Given the description of an element on the screen output the (x, y) to click on. 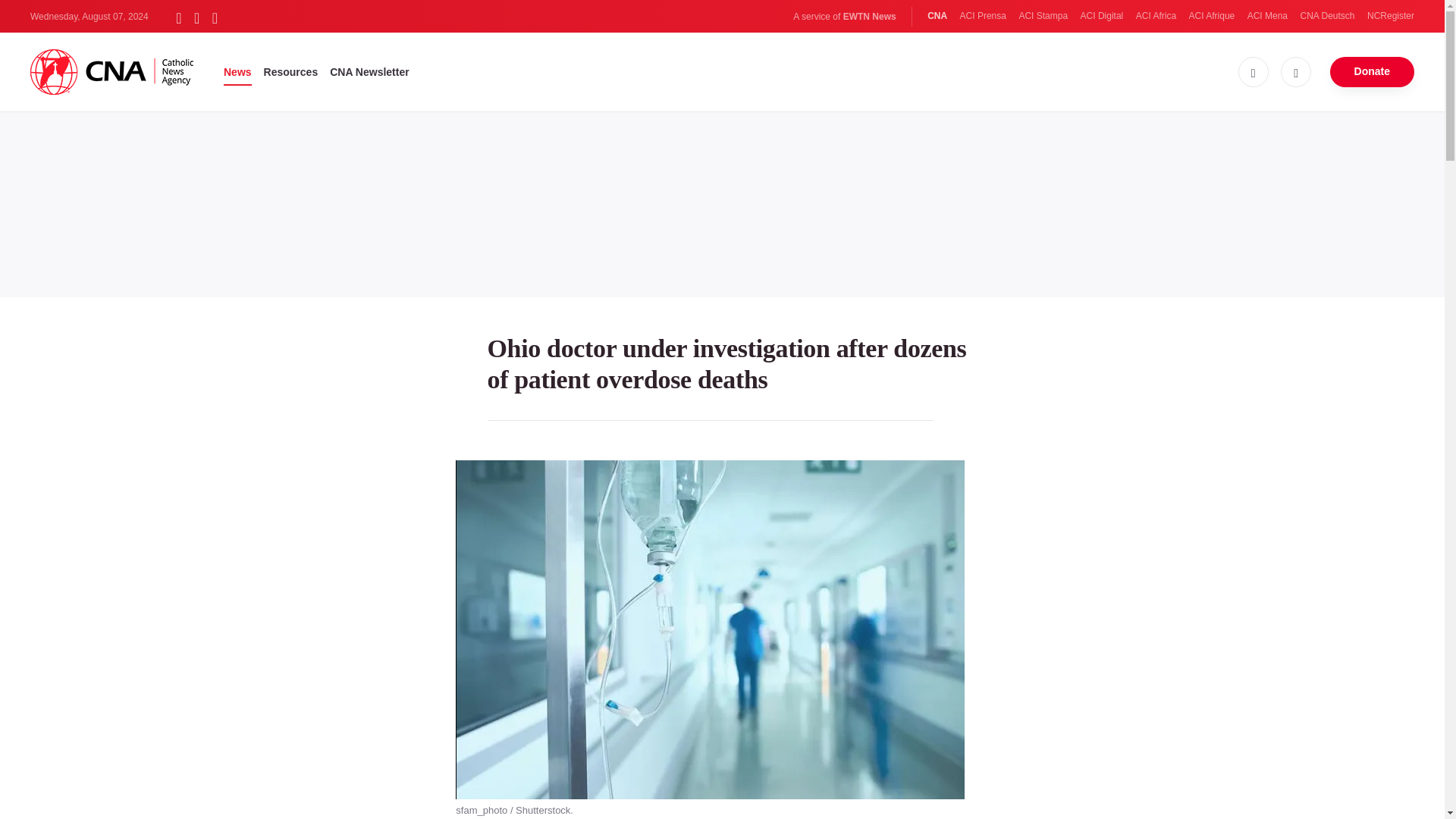
EWTN News (869, 16)
ACI Africa (1155, 16)
NCRegister (1390, 16)
ACI Digital (1102, 16)
EWTN News (869, 16)
CNA (937, 16)
ACI Prensa (982, 16)
ACI Afrique (1211, 16)
ACI Mena (1267, 16)
Resources (290, 71)
ACI Stampa (1042, 16)
CNA Deutsch (1327, 16)
News (237, 71)
